Given the description of an element on the screen output the (x, y) to click on. 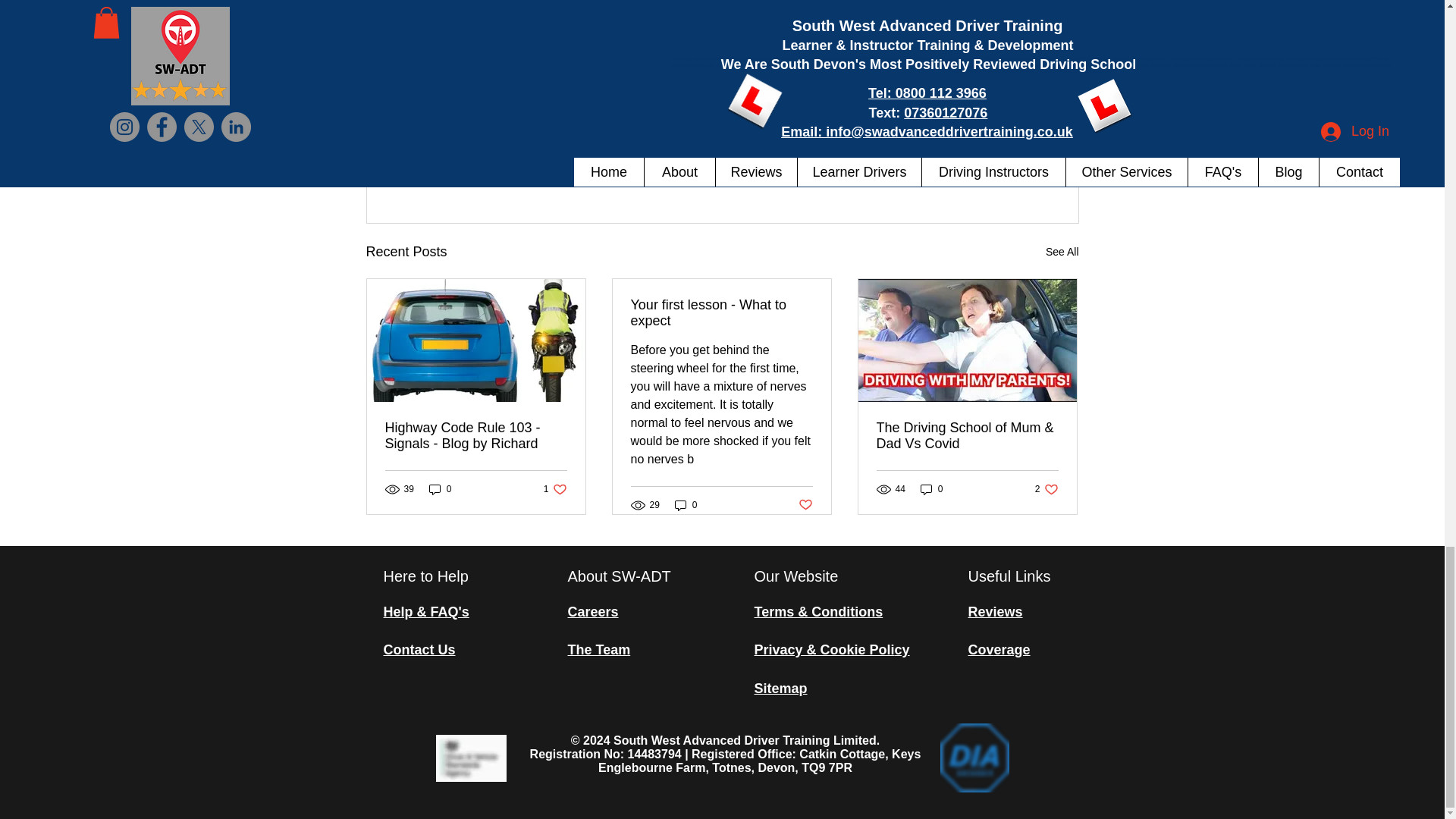
Highway Code Rule 103 - Signals - Blog by Richard (476, 436)
See All (990, 169)
